Given the description of an element on the screen output the (x, y) to click on. 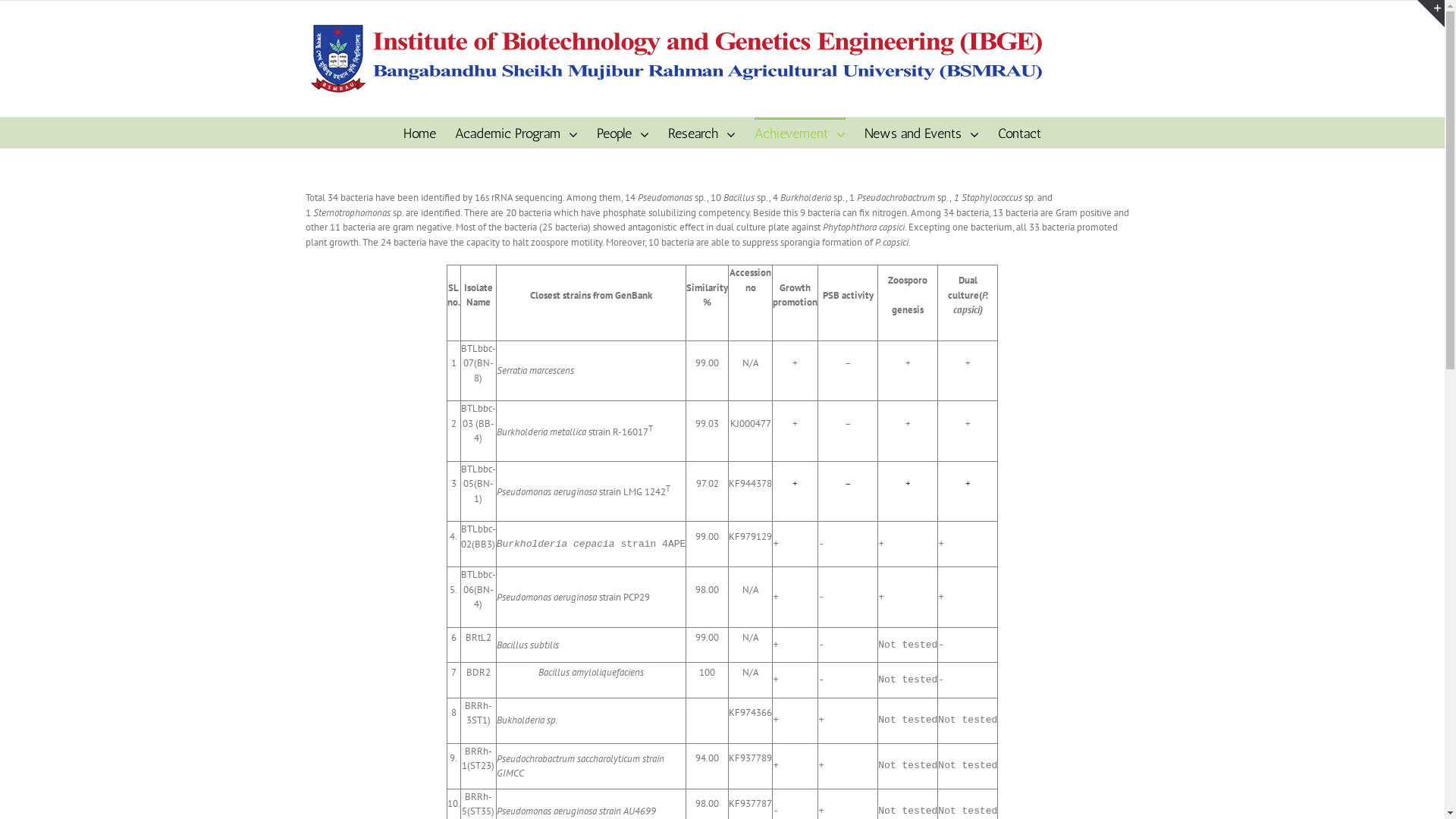
People Element type: text (622, 132)
Research Element type: text (701, 132)
Academic Program Element type: text (516, 132)
Home Element type: text (419, 132)
Toggle Sliding Bar Area Element type: text (1430, 13)
+ Element type: text (907, 482)
Achievement Element type: text (799, 132)
News and Events Element type: text (921, 132)
Contact Element type: text (1019, 132)
+ Element type: text (967, 482)
+ Element type: text (794, 482)
